Given the description of an element on the screen output the (x, y) to click on. 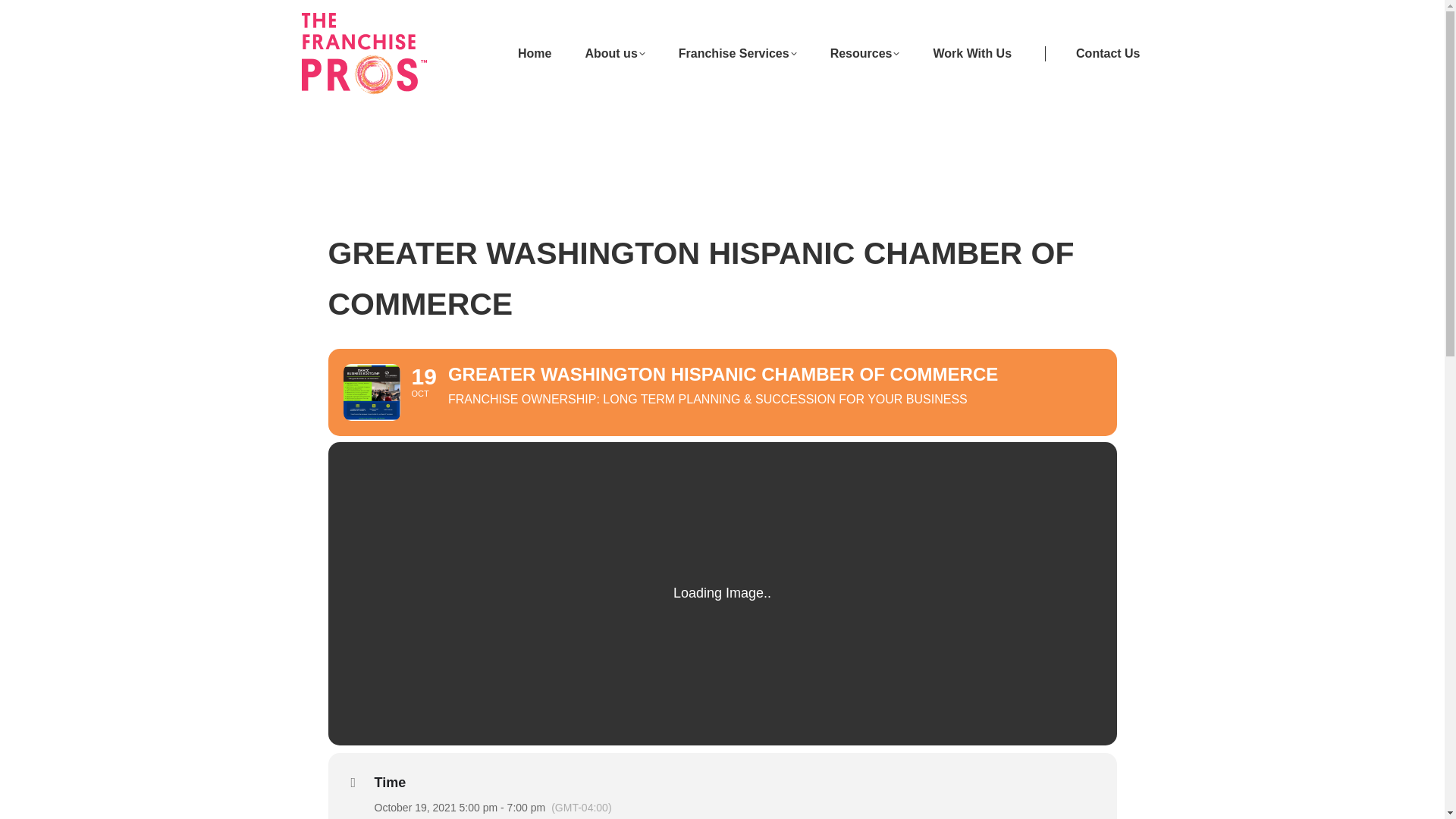
About us (613, 52)
Contact Us (1092, 52)
Home (534, 52)
Franchise Services (737, 52)
Work With Us (972, 52)
Resources (864, 52)
